Given the description of an element on the screen output the (x, y) to click on. 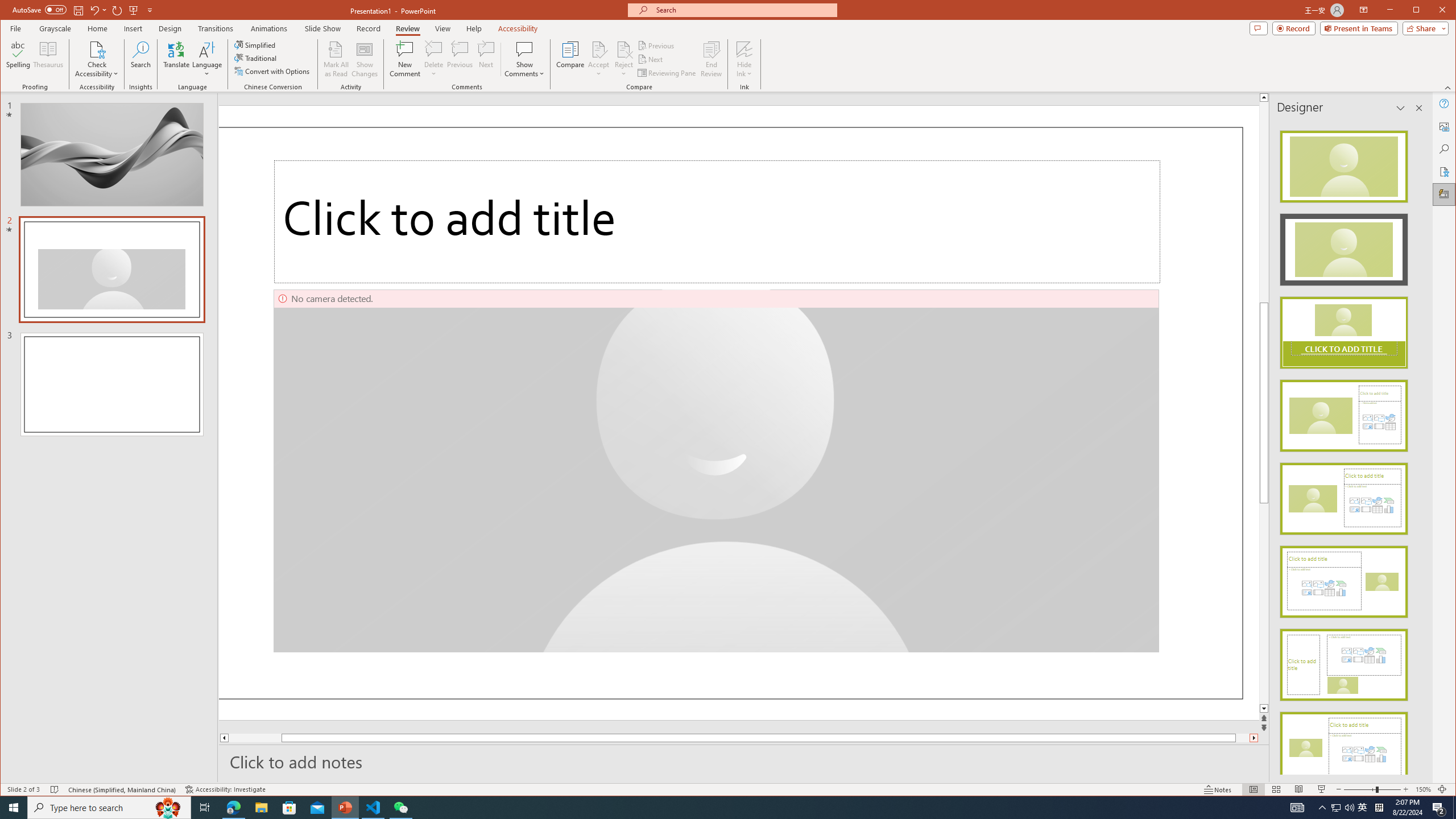
Reviewing Pane (667, 72)
Translate (175, 59)
Design Idea (1343, 744)
Traditional (256, 57)
Microsoft Edge - 1 running window (233, 807)
Delete (433, 48)
Delete (433, 59)
Compare (569, 59)
